Given the description of an element on the screen output the (x, y) to click on. 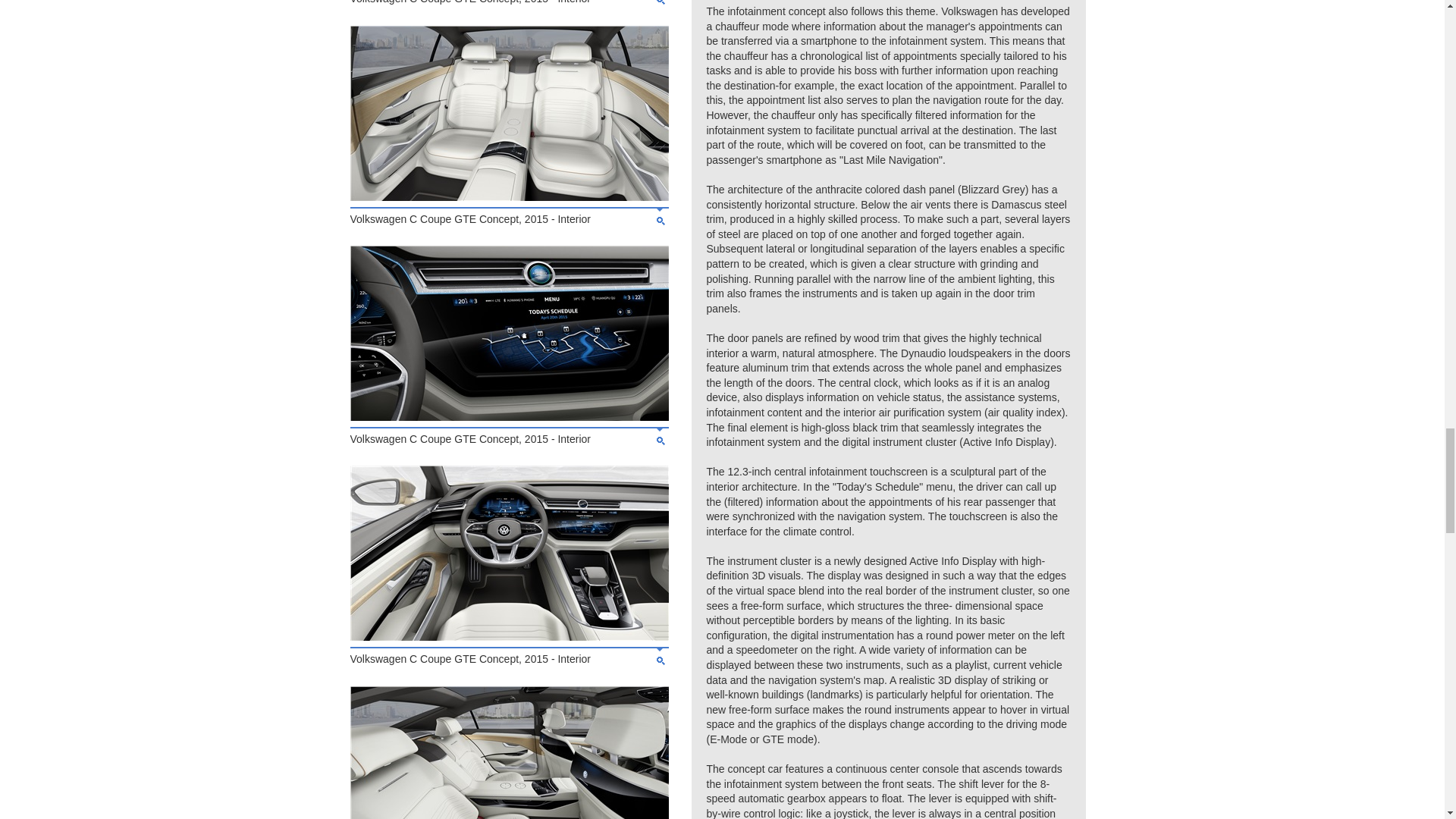
Volkswagen C Coupe GTE Concept, 2015 - Interior (509, 636)
Volkswagen C Coupe GTE Concept, 2015 - Interior (509, 196)
Volkswagen C Coupe GTE Concept, 2015 - Interior (509, 417)
